Given the description of an element on the screen output the (x, y) to click on. 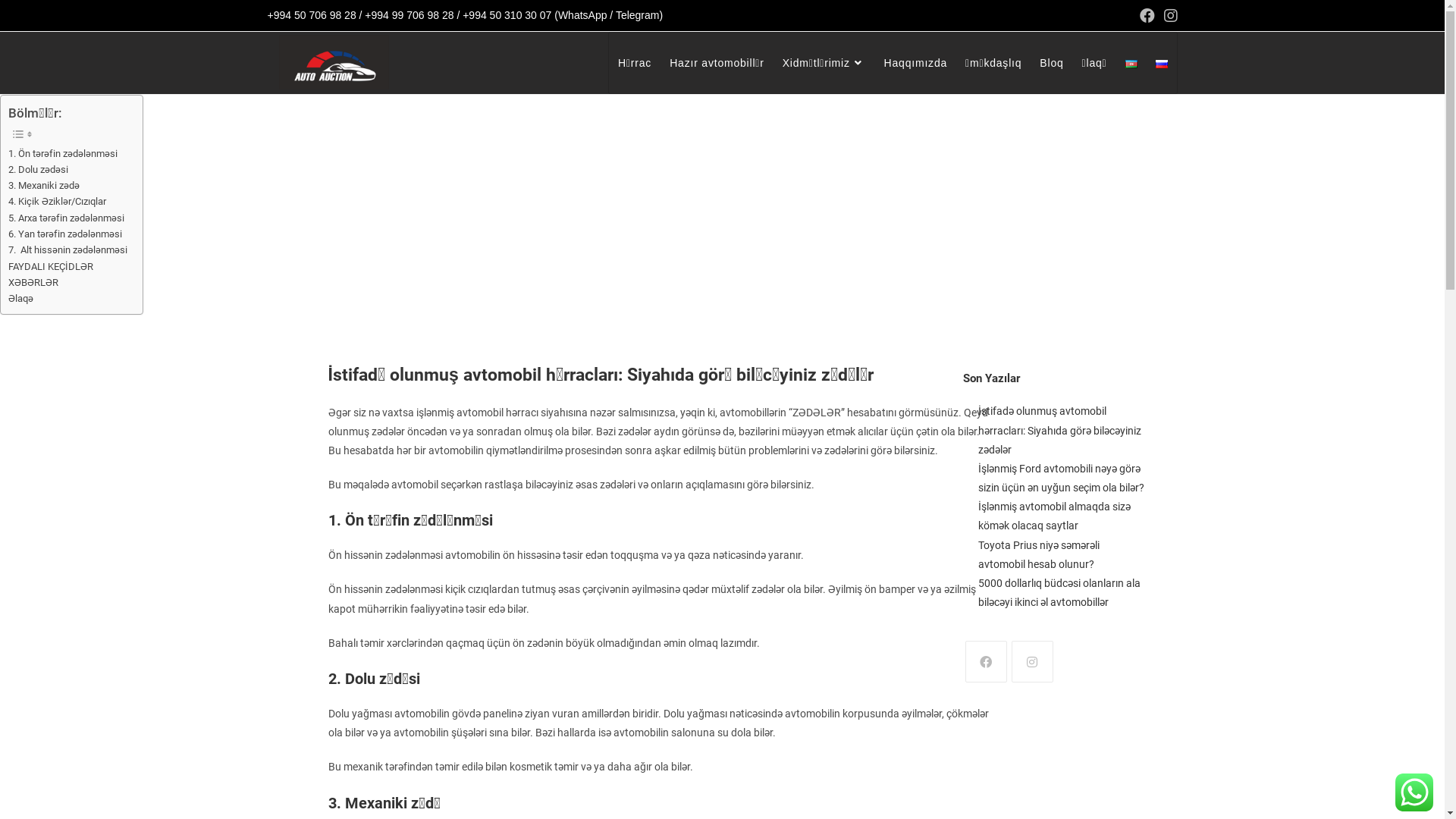
Bloq Element type: text (1051, 62)
WhatsApp us Element type: hover (1414, 792)
